Given the description of an element on the screen output the (x, y) to click on. 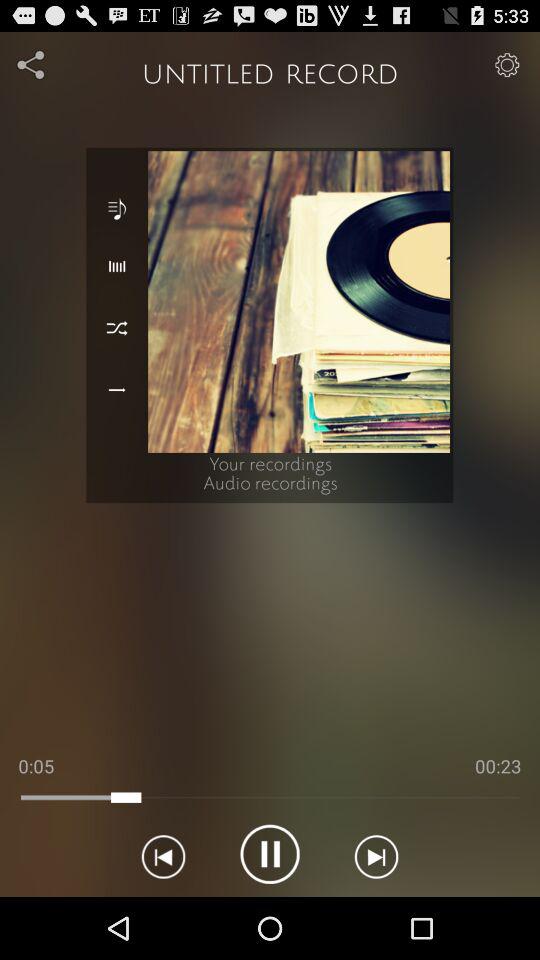
view setting button (506, 64)
